Given the description of an element on the screen output the (x, y) to click on. 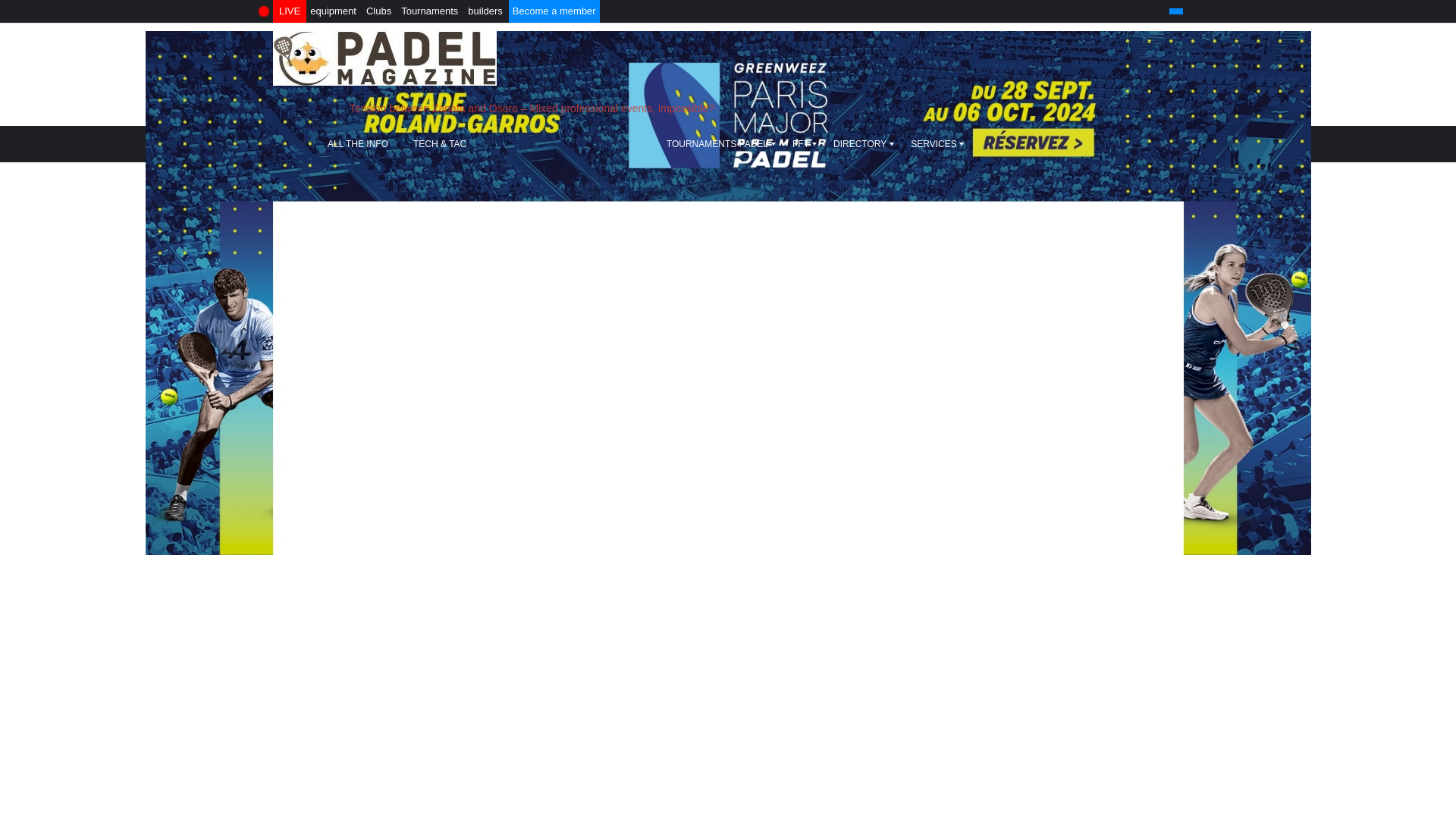
NEWS CLUBS (617, 144)
Become a member (553, 11)
HOME (295, 144)
LIVE (289, 11)
equipment (332, 11)
Tournaments (429, 11)
Clubs (378, 11)
builders (485, 11)
ALL THE INFO (358, 144)
